Given the description of an element on the screen output the (x, y) to click on. 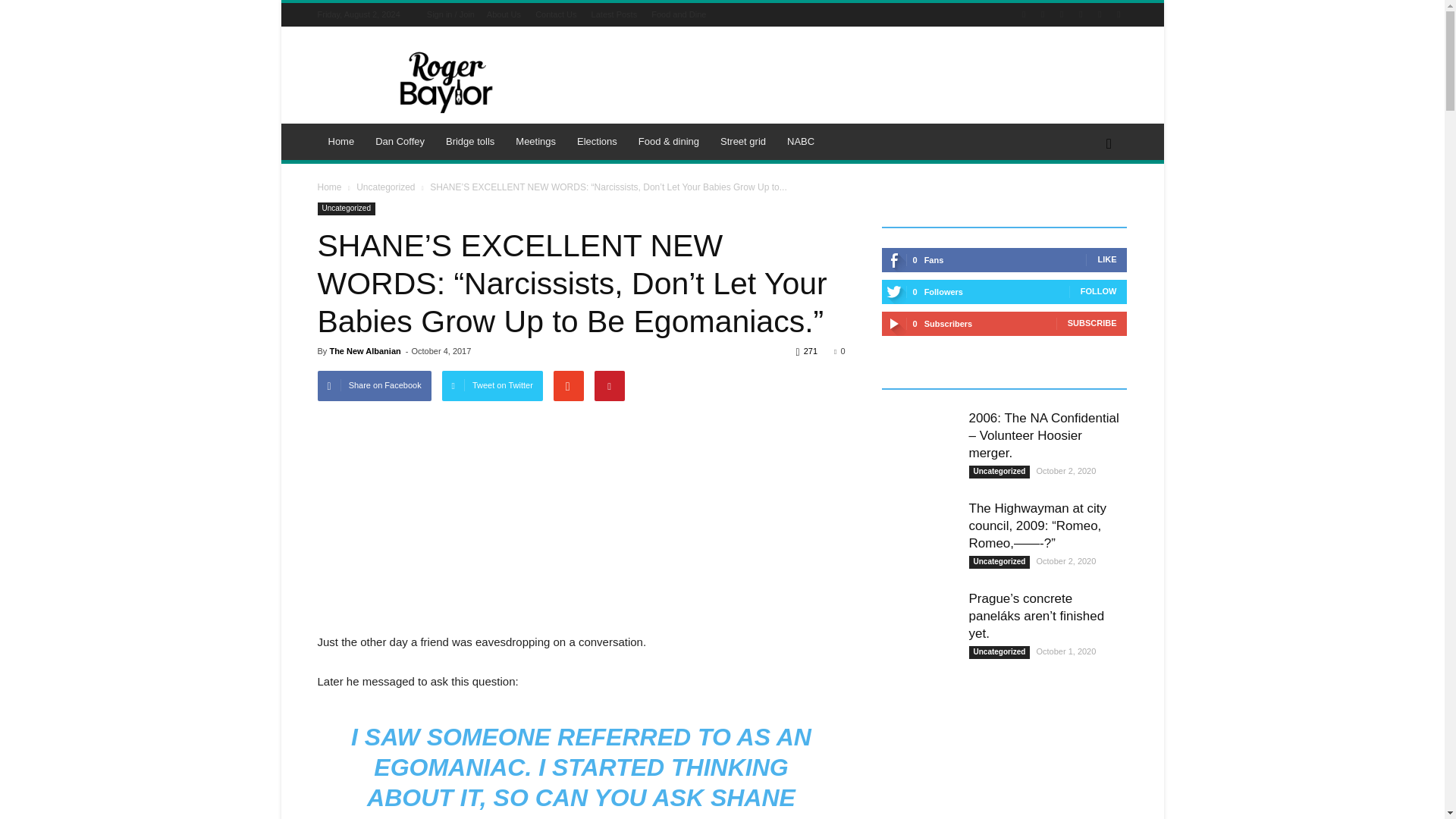
Instagram (1061, 13)
Twitter (1080, 13)
Food and Dine (678, 13)
View all posts in Uncategorized (385, 186)
Vimeo (1099, 13)
Facebook (1042, 13)
Behance (1023, 13)
VKontakte (1117, 13)
About Us (503, 13)
Contact Us (555, 13)
Home (341, 141)
Dan Coffey (400, 141)
Latest Posts (614, 13)
